Given the description of an element on the screen output the (x, y) to click on. 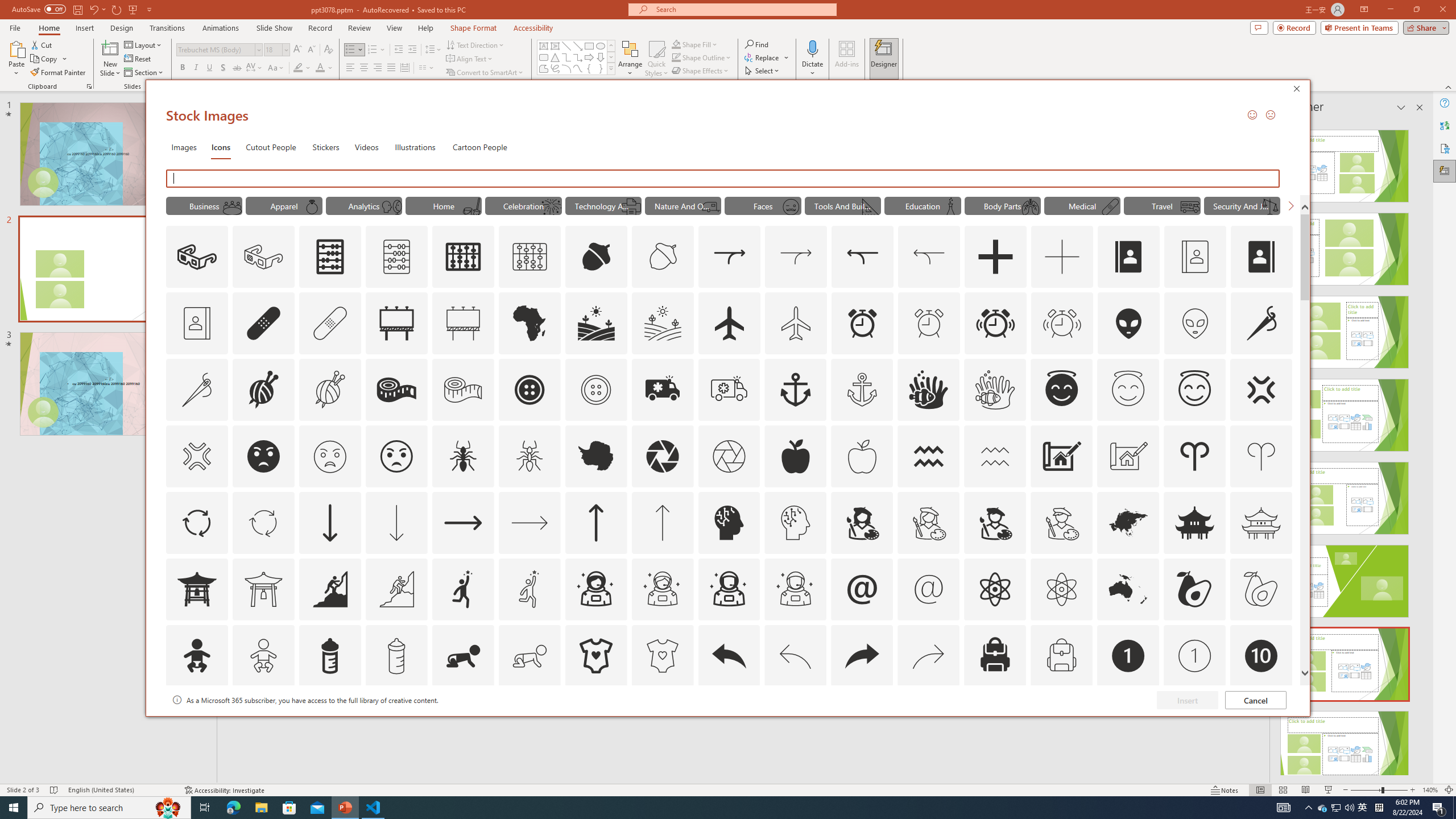
Oval (600, 45)
"Travel" Icons. (1162, 205)
AutomationID: Icons_Backpack (995, 655)
AutomationID: Icons_AstronautMale (729, 588)
AutomationID: Icons_Flask_M (950, 206)
AutomationID: Icons_Aperture (662, 455)
AutomationID: Icons_Baby (196, 655)
AutomationID: Icons_Meeting_M (231, 206)
AutomationID: Icons_Printer_M (631, 206)
